Given the description of an element on the screen output the (x, y) to click on. 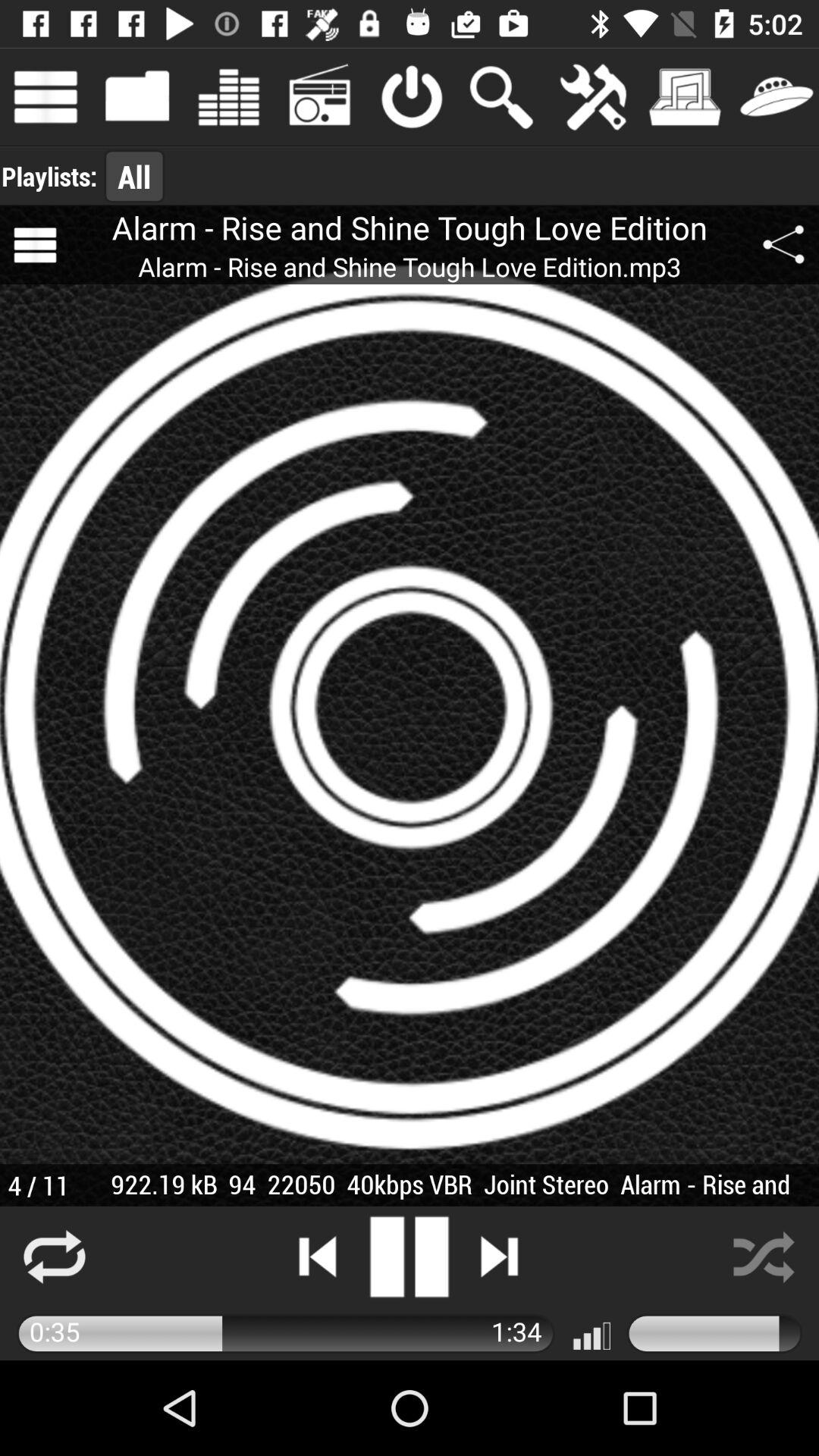
select icon above 922 19 kb app (783, 244)
